Given the description of an element on the screen output the (x, y) to click on. 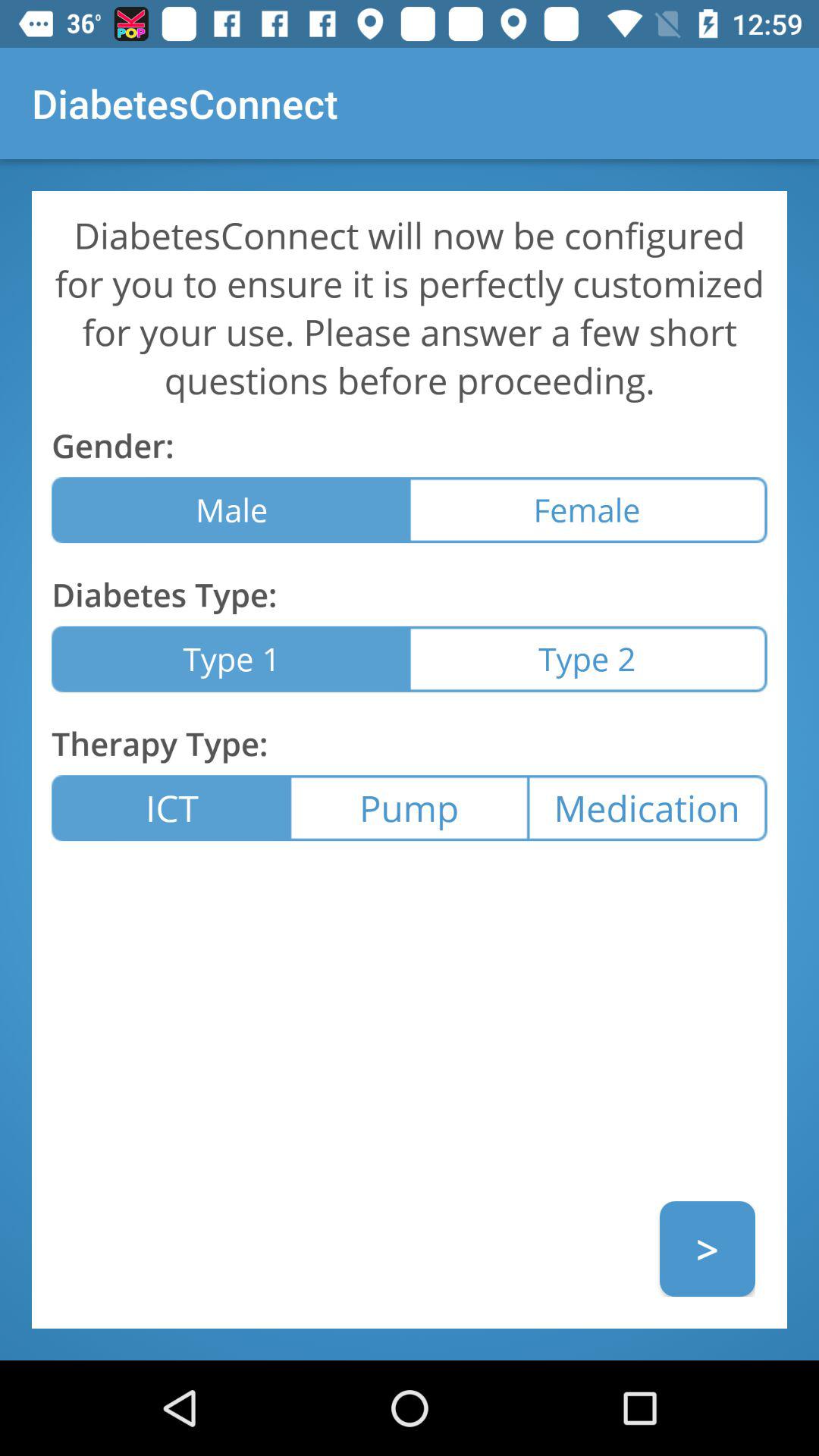
choose icon at the center (409, 808)
